Given the description of an element on the screen output the (x, y) to click on. 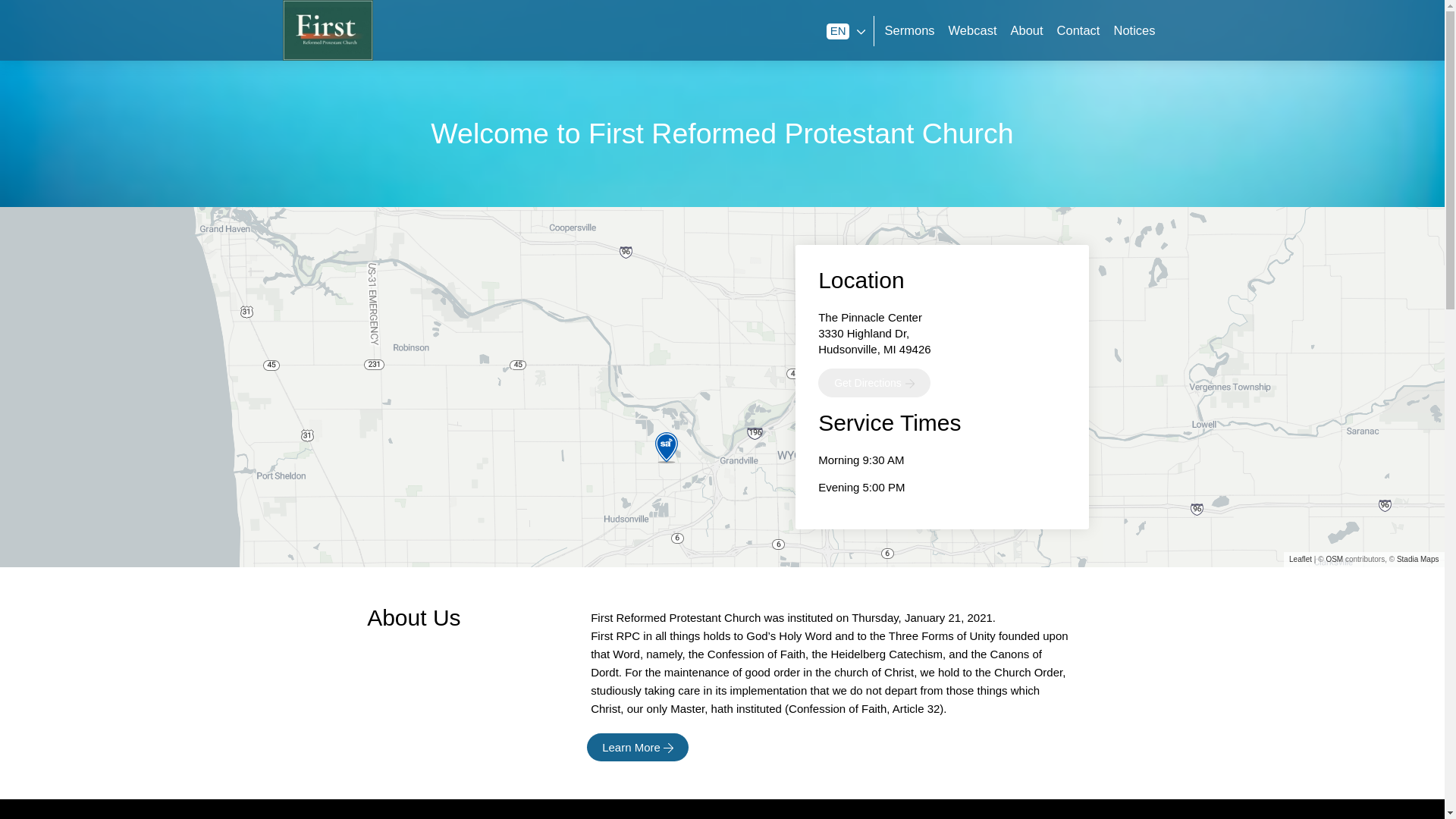
Stadia Maps (1417, 559)
Get Directions (867, 382)
Get Directions (874, 382)
A JS library for interactive maps (1299, 559)
OSM (1333, 559)
Webcast (973, 30)
Leaflet (1299, 559)
Contact (1077, 30)
Get Directions (867, 382)
Sermons (909, 30)
